Given the description of an element on the screen output the (x, y) to click on. 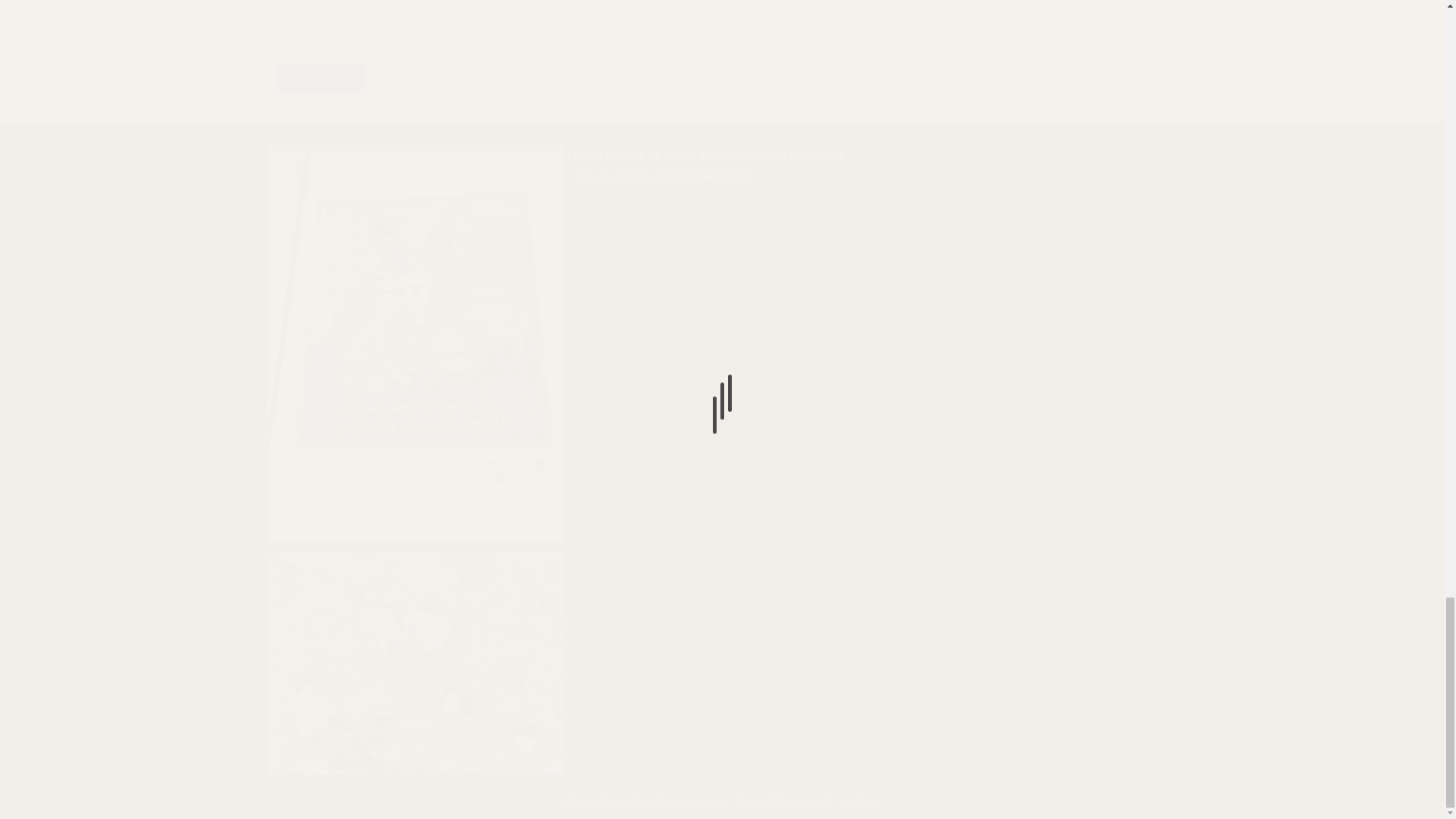
EnterNews (770, 800)
Post Comment (320, 78)
Post Comment (320, 78)
